Given the description of an element on the screen output the (x, y) to click on. 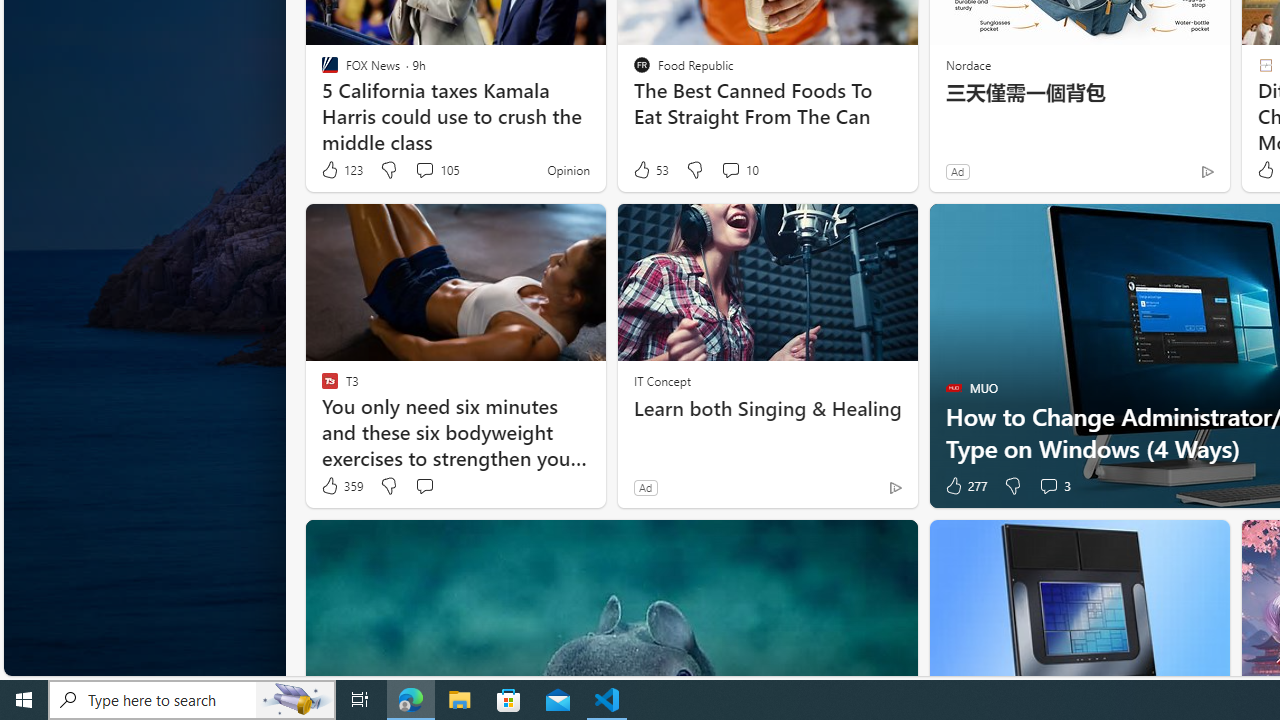
123 Like (341, 170)
View comments 105 Comment (424, 169)
53 Like (650, 170)
